Given the description of an element on the screen output the (x, y) to click on. 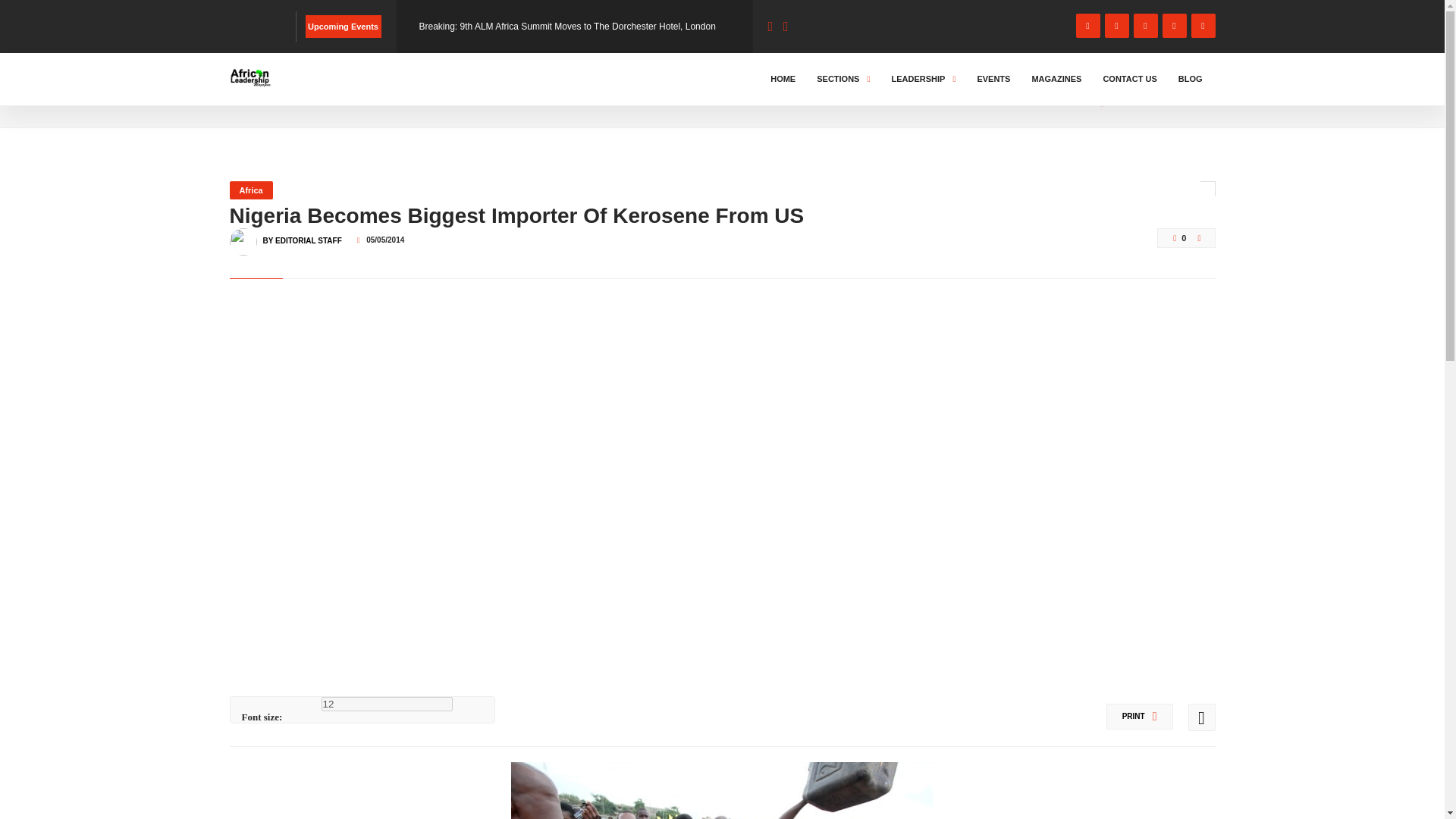
SECTIONS (842, 79)
HOME (782, 79)
LEADERSHIP (922, 79)
HOME (246, 92)
BLOG (293, 92)
EVENTS (992, 79)
CONTACT US (1129, 79)
MAGAZINES (1056, 79)
12 (386, 703)
